Given the description of an element on the screen output the (x, y) to click on. 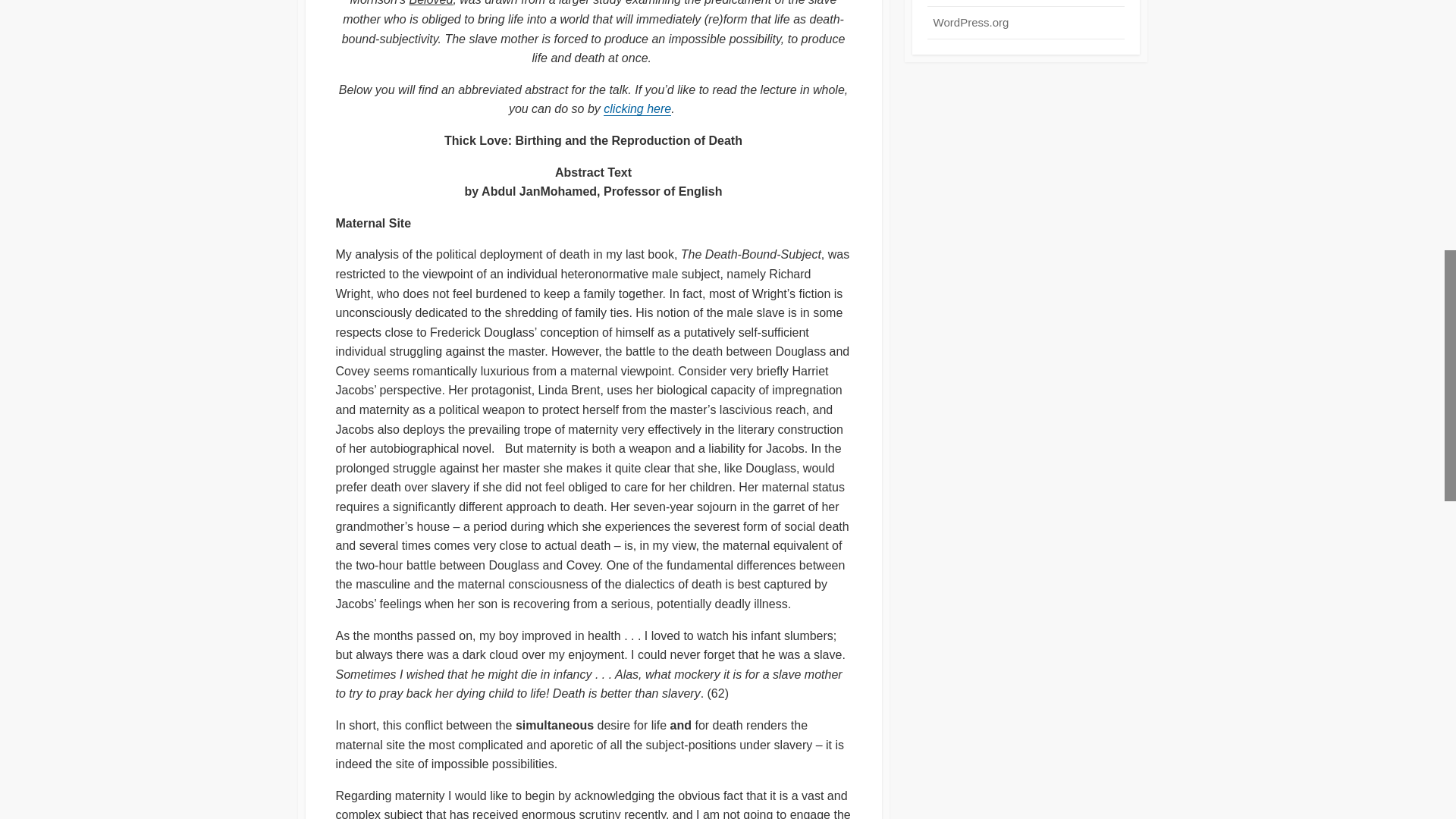
clicking here (637, 108)
